Given the description of an element on the screen output the (x, y) to click on. 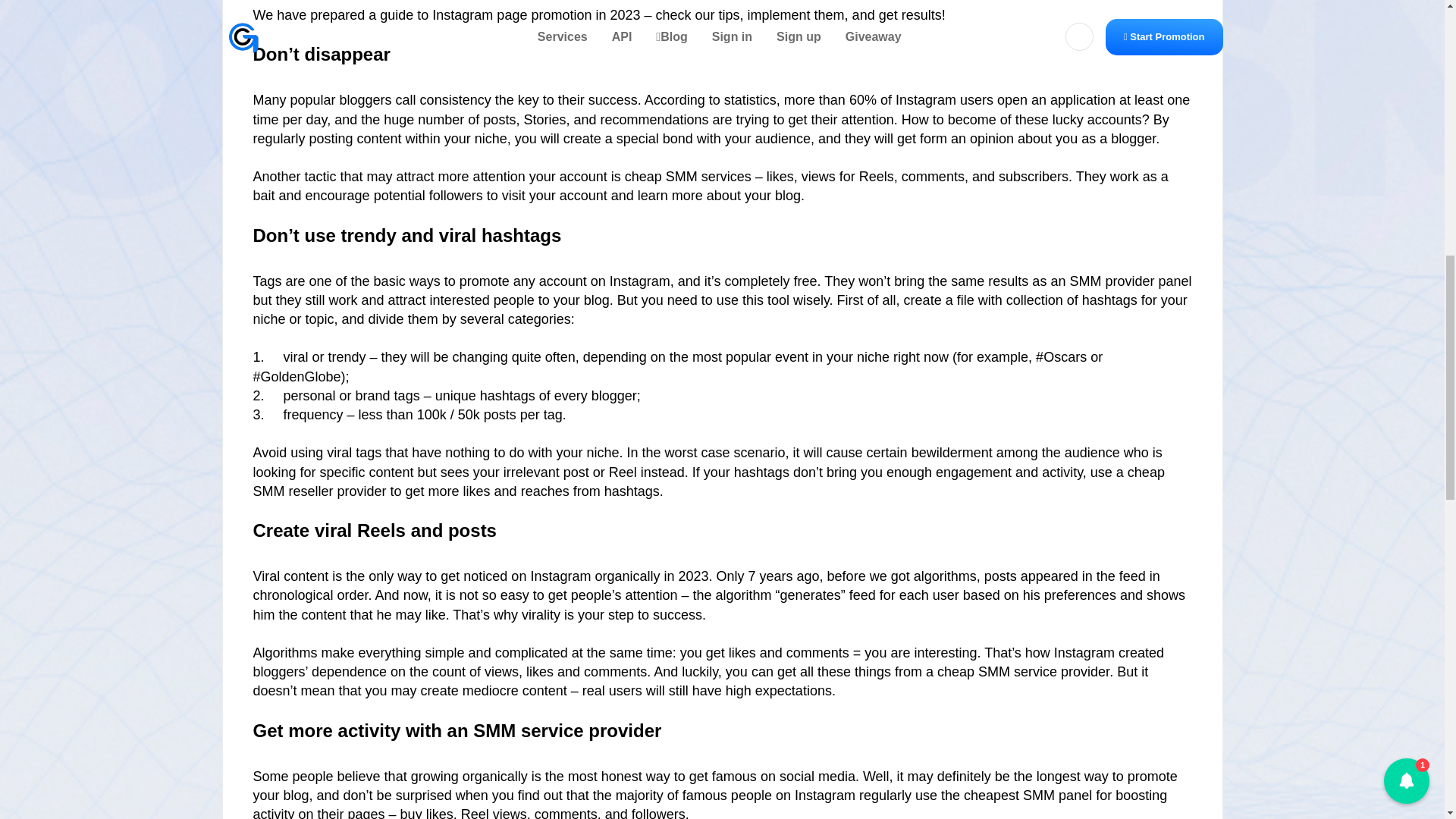
SMM service provider (1043, 671)
cheap SMM services (687, 176)
